Given the description of an element on the screen output the (x, y) to click on. 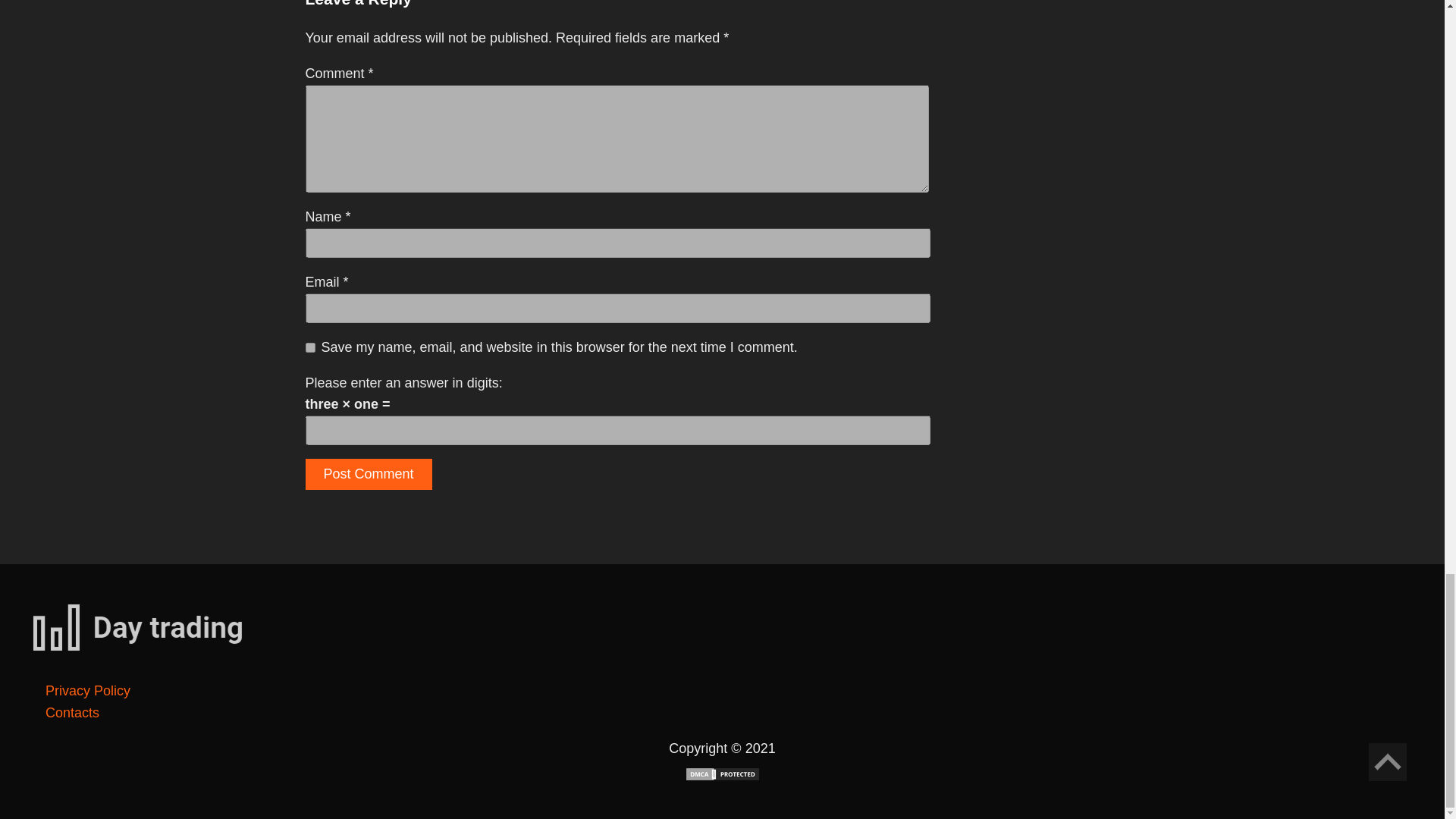
Privacy Policy (88, 690)
Post Comment (367, 473)
yes (309, 347)
Contacts (72, 712)
Content Protection by DMCA.com (721, 777)
Post Comment (367, 473)
